Given the description of an element on the screen output the (x, y) to click on. 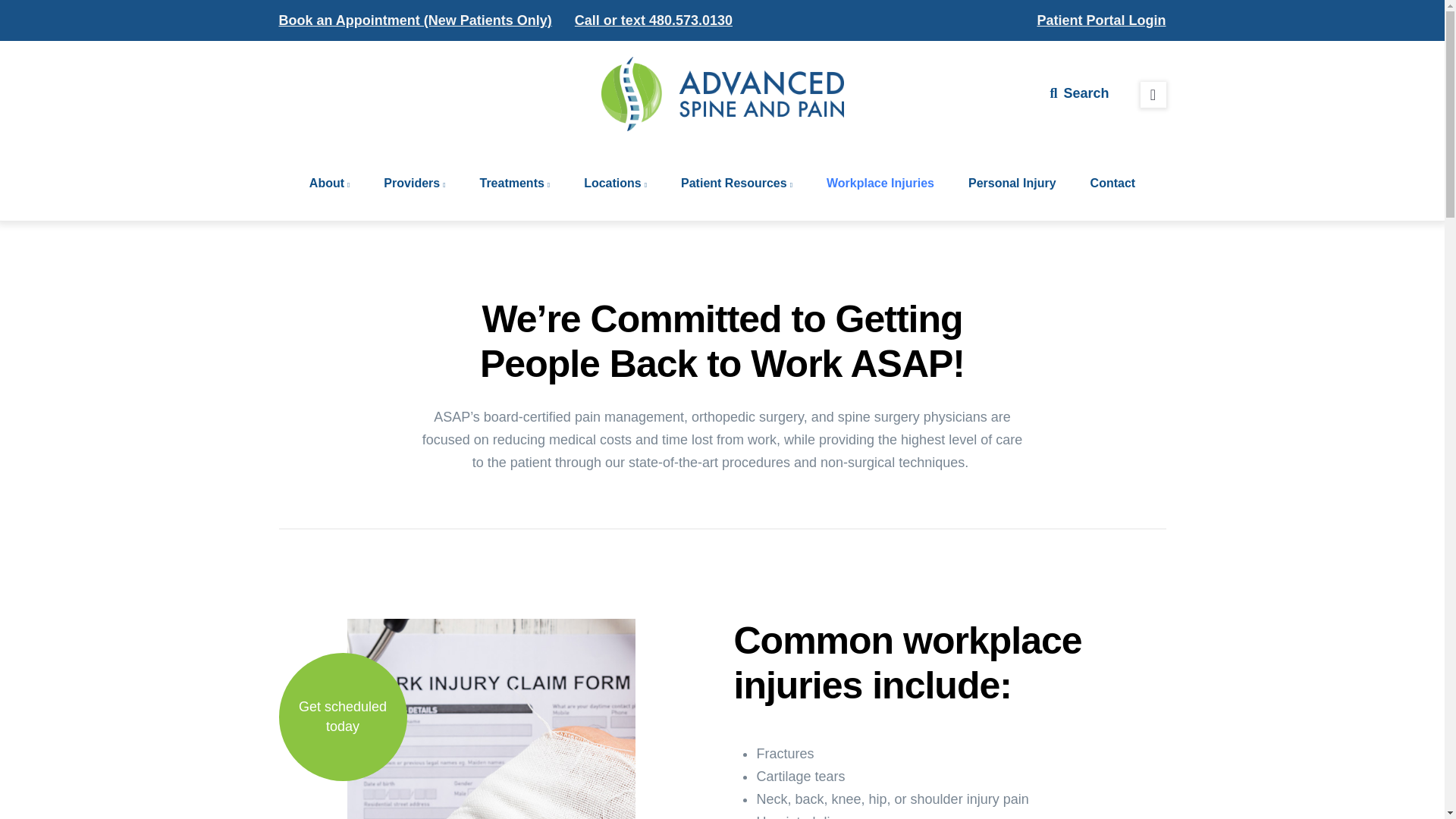
Home (721, 93)
Call or text 480.573.0130 (653, 20)
Patient Portal Login (1101, 20)
About (329, 183)
Providers (414, 183)
Treatments (514, 183)
